Given the description of an element on the screen output the (x, y) to click on. 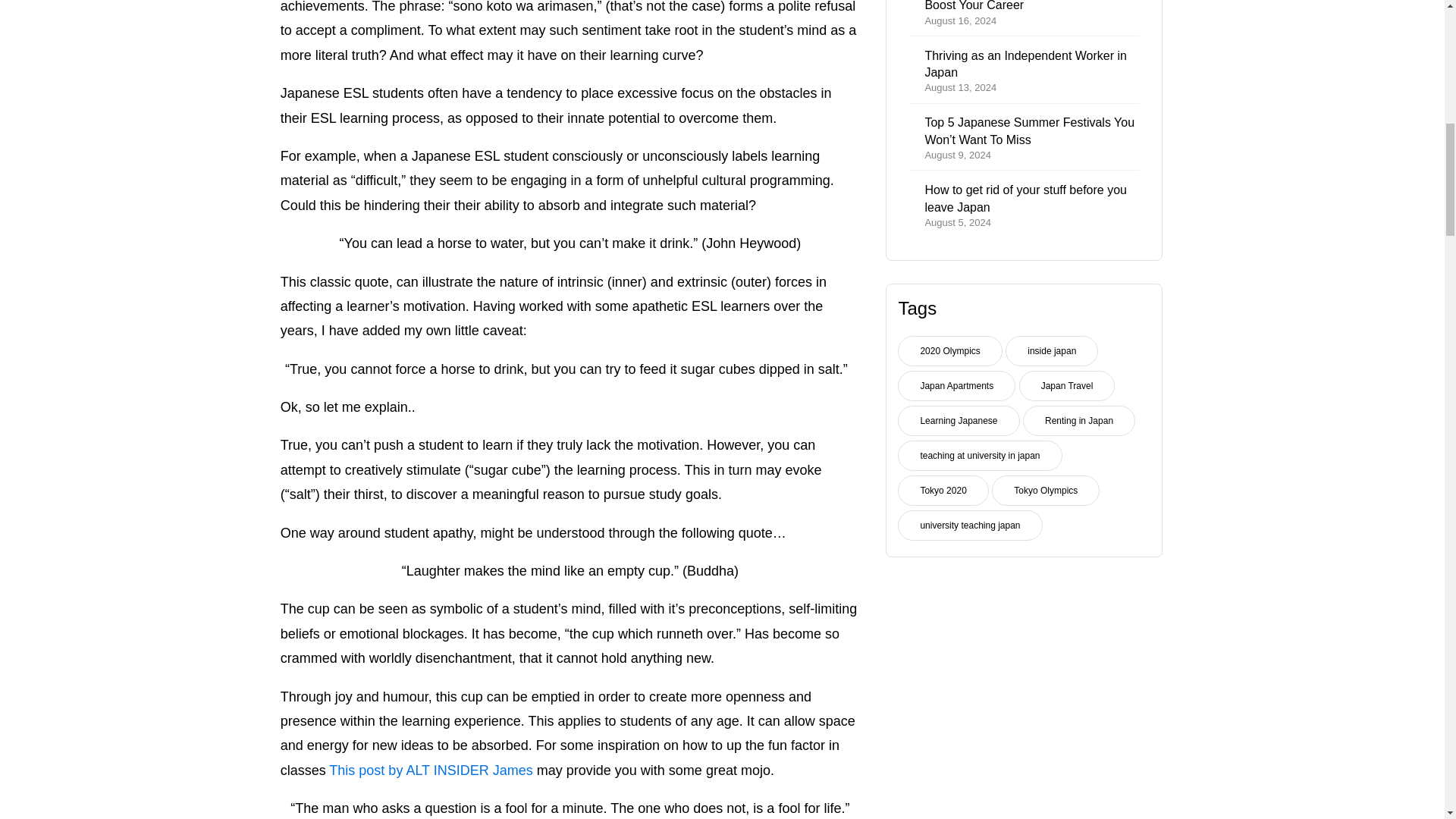
Japan Travel (1067, 386)
inside japan (1023, 71)
Japan Apartments (1051, 350)
Renting in Japan (956, 386)
Learning Japanese (1079, 420)
2020 Olympics (958, 420)
This post by ALT INSIDER James (949, 350)
